Given the description of an element on the screen output the (x, y) to click on. 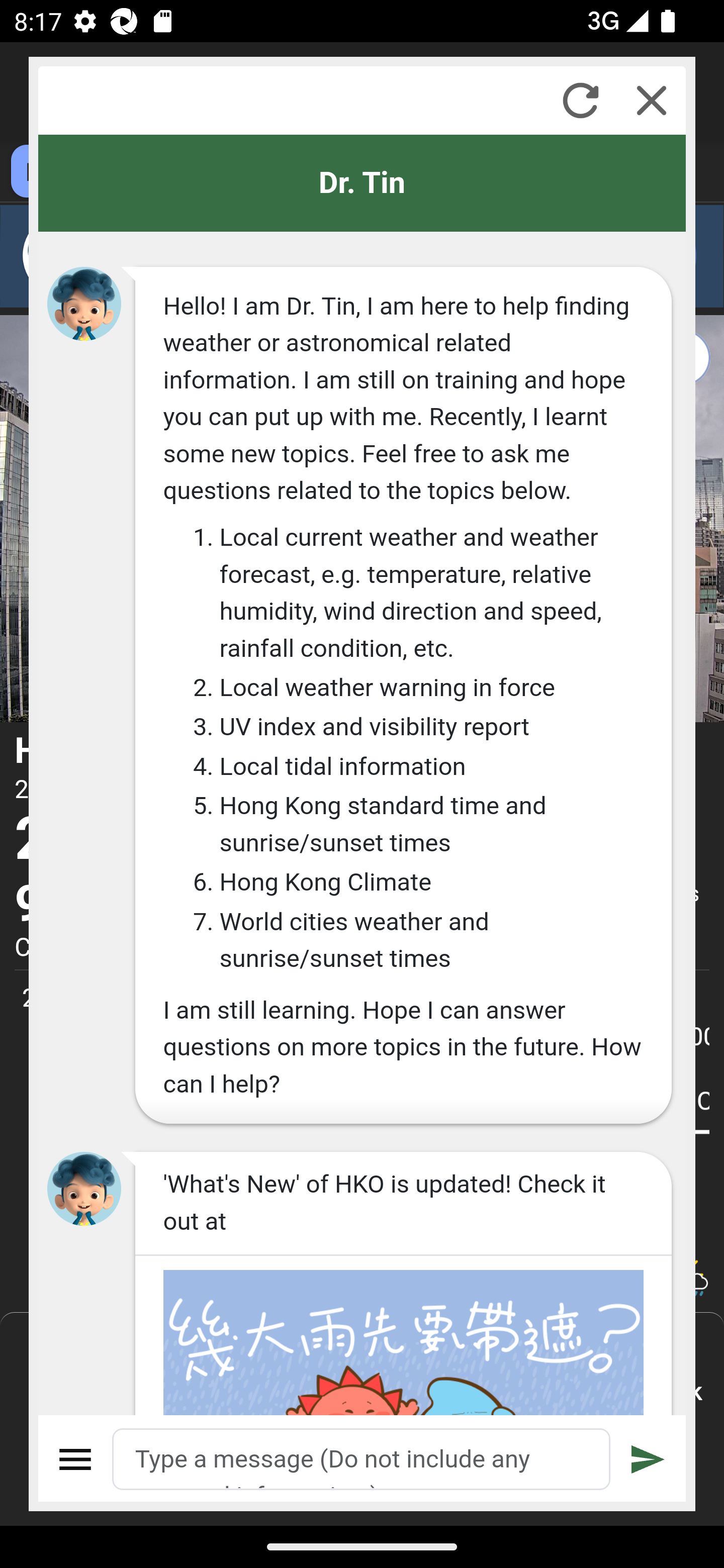
Refresh (580, 100)
Close (651, 100)
Menu (75, 1458)
Submit (648, 1458)
